Given the description of an element on the screen output the (x, y) to click on. 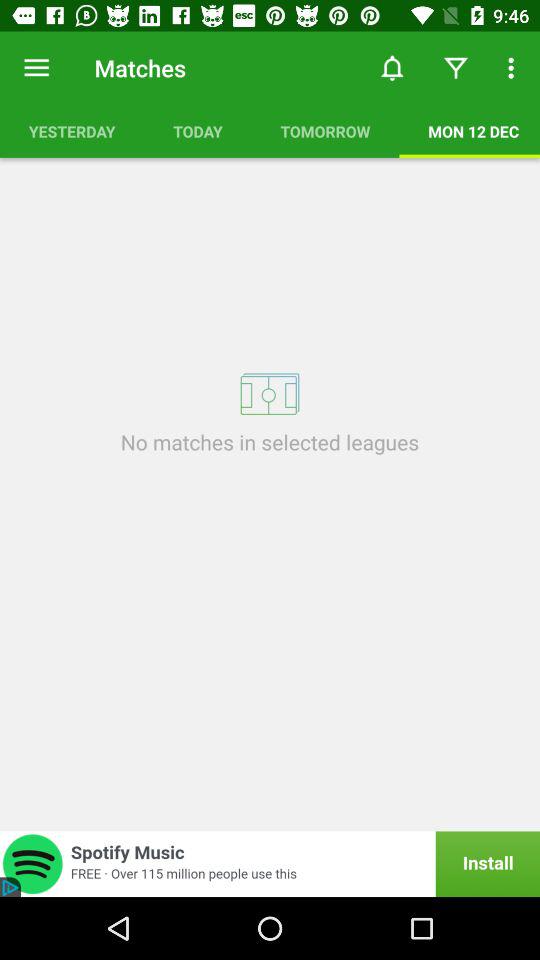
click on advertisement (270, 864)
